Given the description of an element on the screen output the (x, y) to click on. 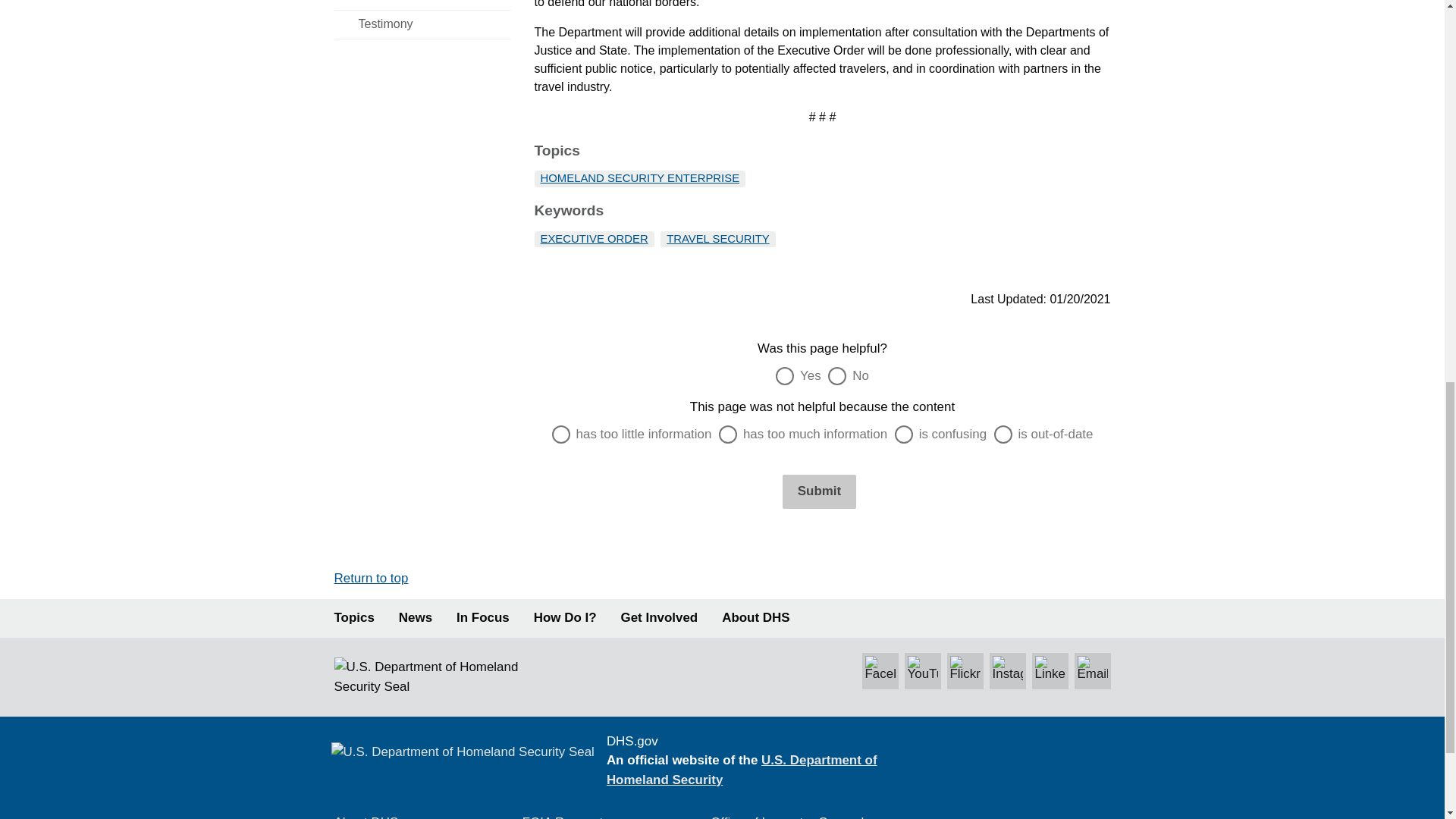
Get Involved (659, 618)
Topics (353, 618)
Office of the Inspector General (786, 816)
National Terrorism Advisory System (1018, 775)
Submit (819, 491)
Submit (819, 491)
